Given the description of an element on the screen output the (x, y) to click on. 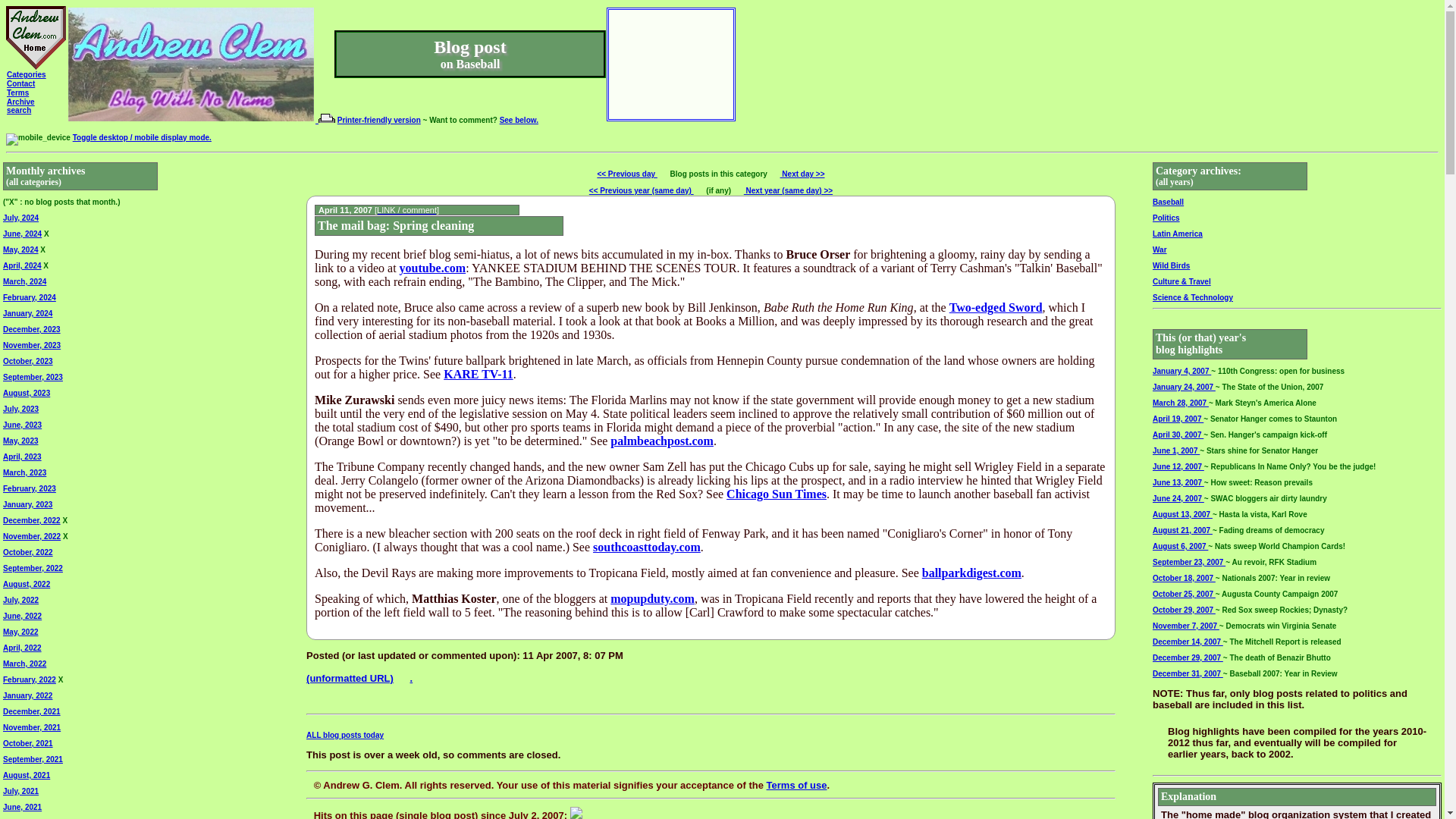
Contact (20, 83)
Printer-friendly version (378, 120)
Categories (20, 105)
Terms (26, 74)
See below. (18, 92)
